Given the description of an element on the screen output the (x, y) to click on. 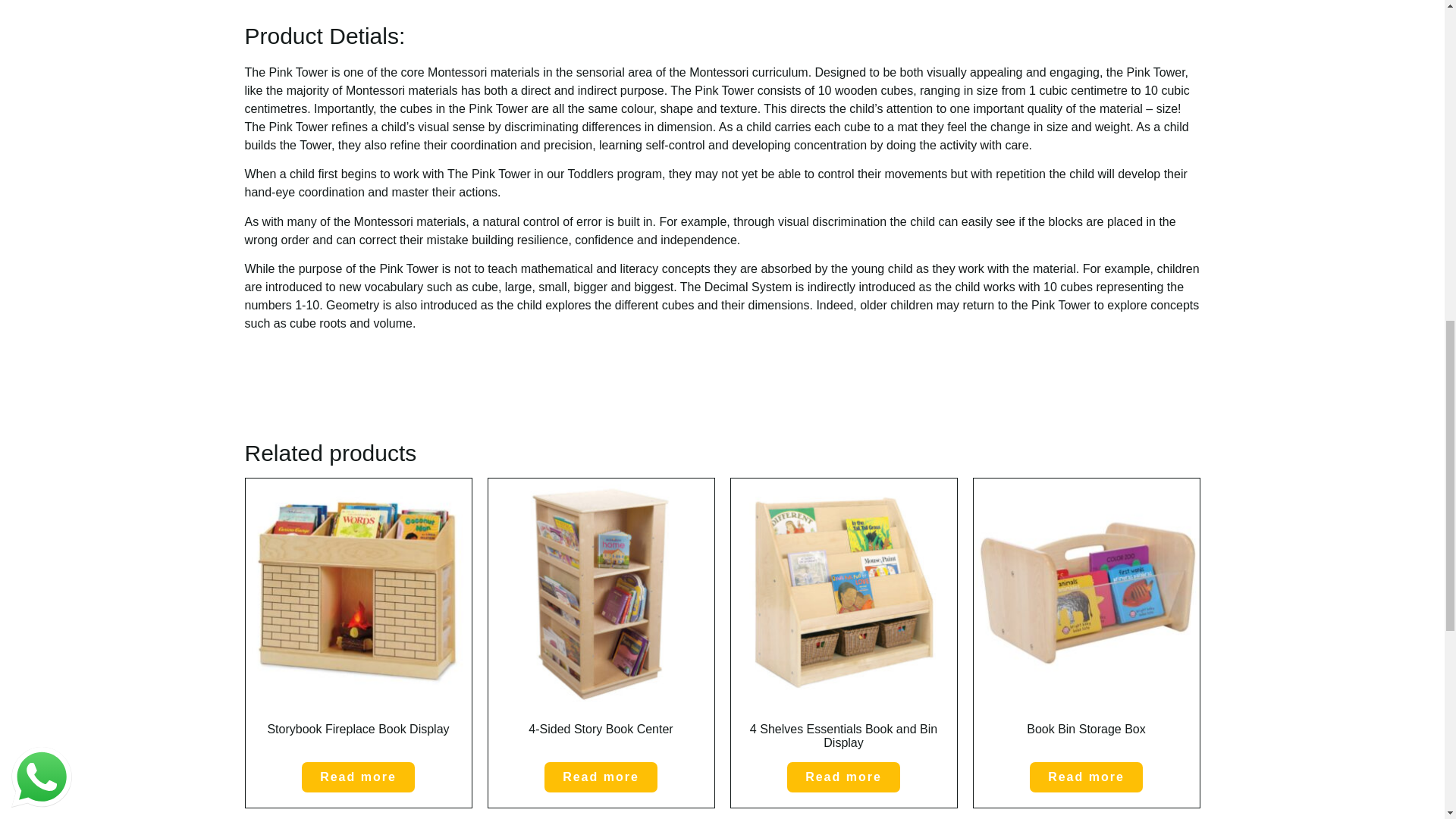
Read more (357, 777)
Book Bin Storage Box (1086, 620)
4 Shelves Essentials Book and Bin Display (843, 620)
Read more (1085, 777)
Read more (843, 777)
4-Sided Story Book Center (600, 620)
Read more (601, 777)
Storybook Fireplace Book Display (358, 620)
